Given the description of an element on the screen output the (x, y) to click on. 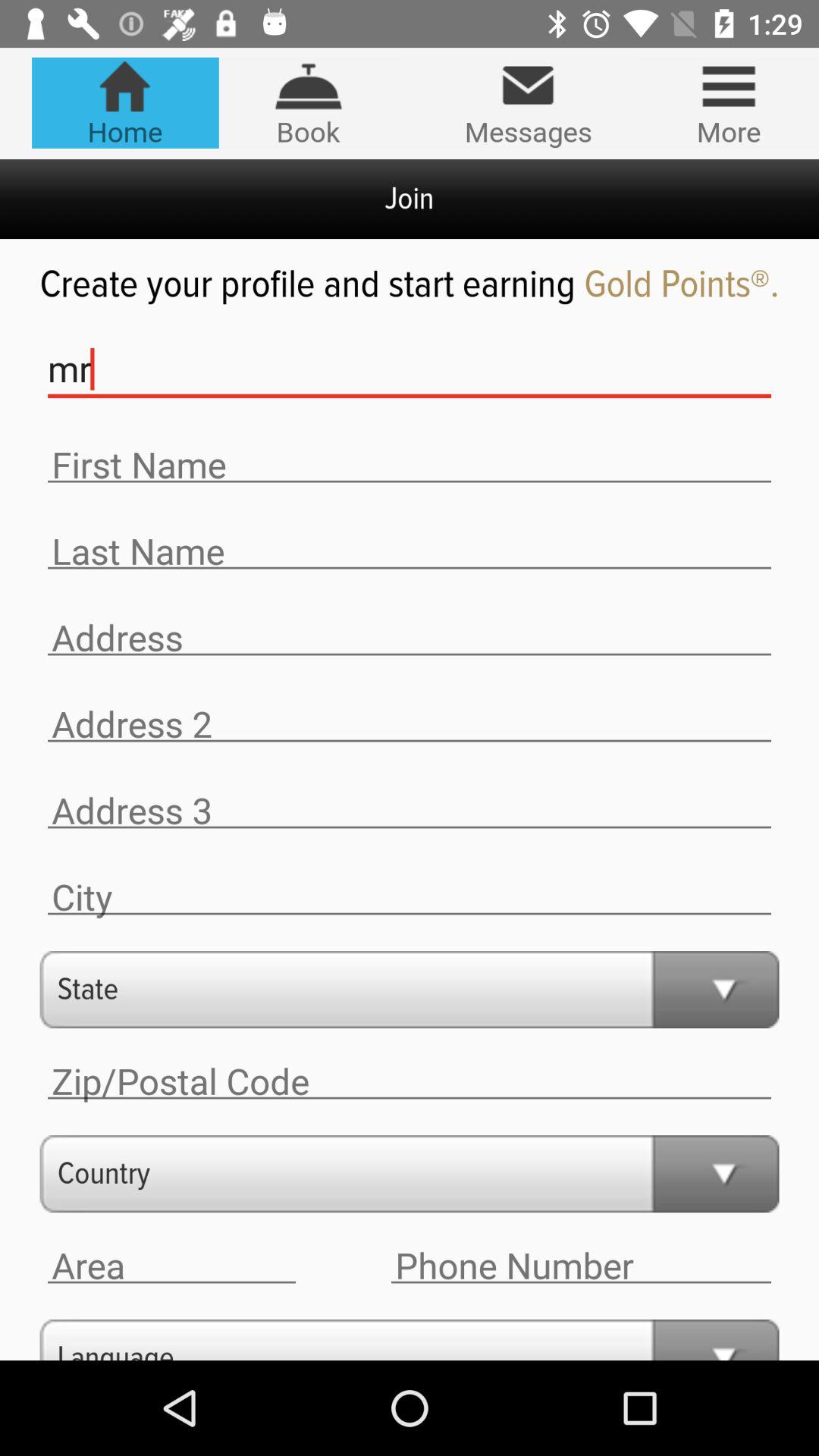
enter area (171, 1266)
